Given the description of an element on the screen output the (x, y) to click on. 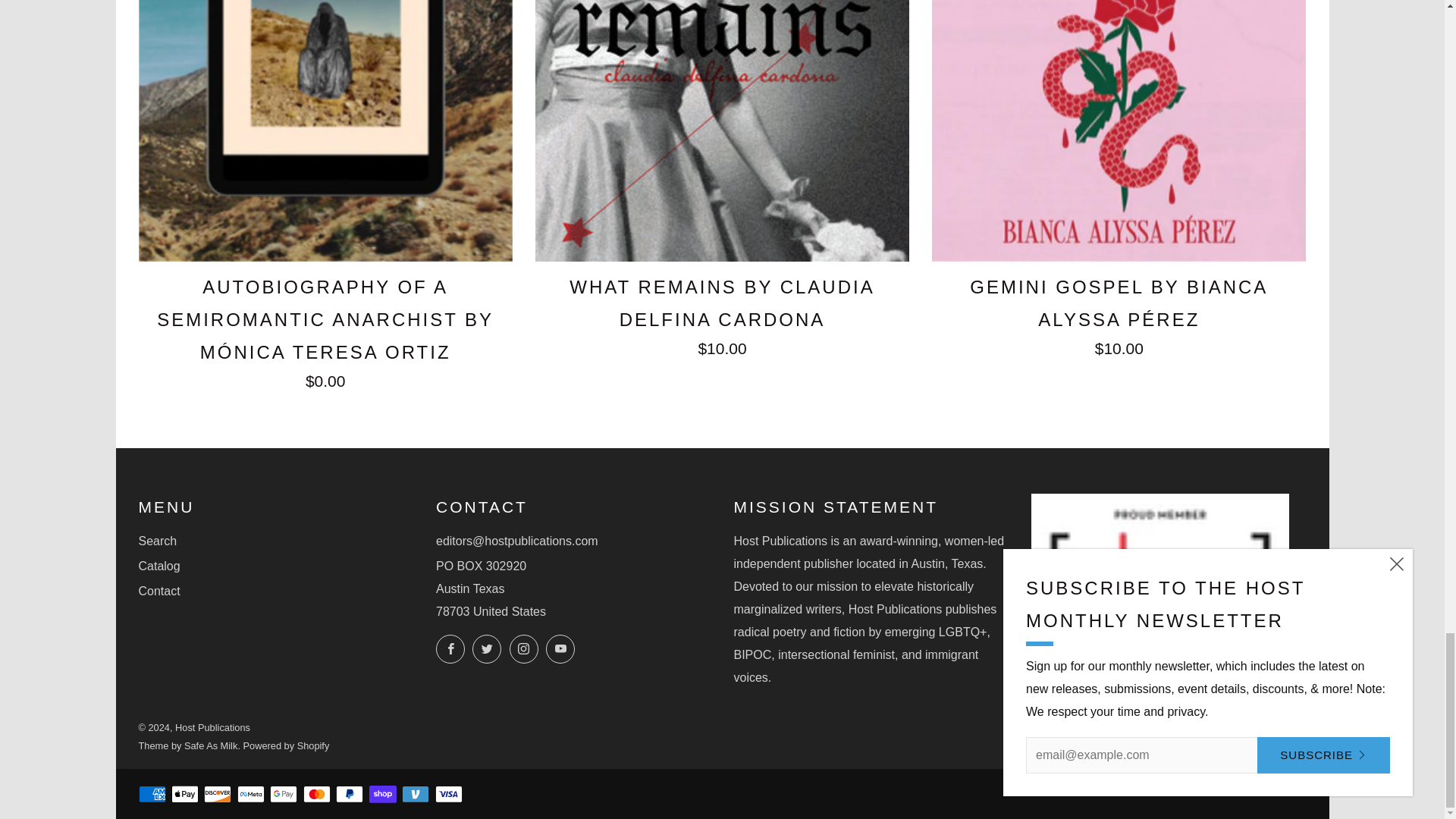
What Remains by Claudia Delfina Cardona (721, 313)
What Remains by Claudia Delfina Cardona (721, 130)
